Given the description of an element on the screen output the (x, y) to click on. 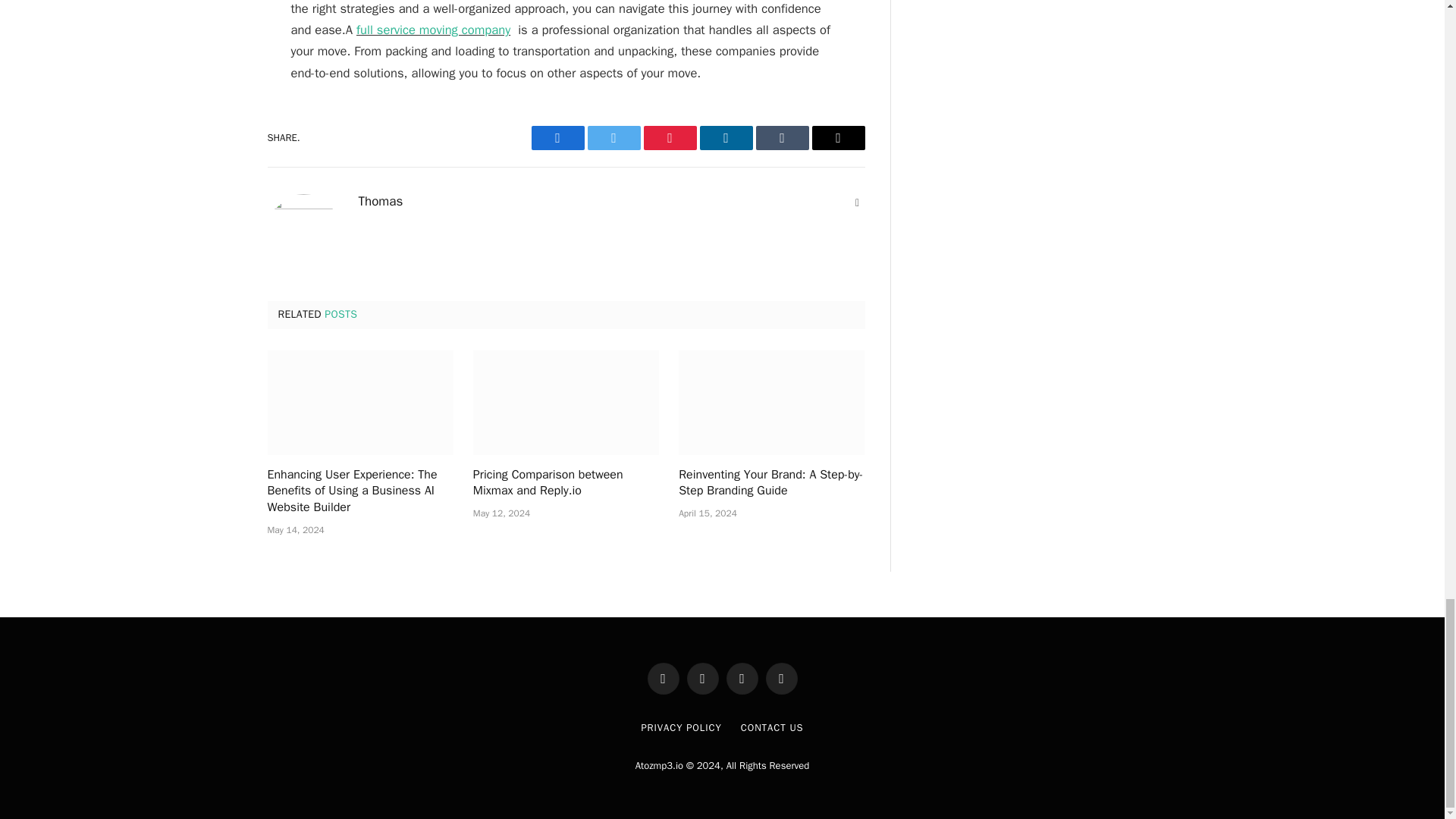
Facebook (557, 137)
full service moving company (433, 29)
Pinterest (669, 137)
Twitter (613, 137)
